Given the description of an element on the screen output the (x, y) to click on. 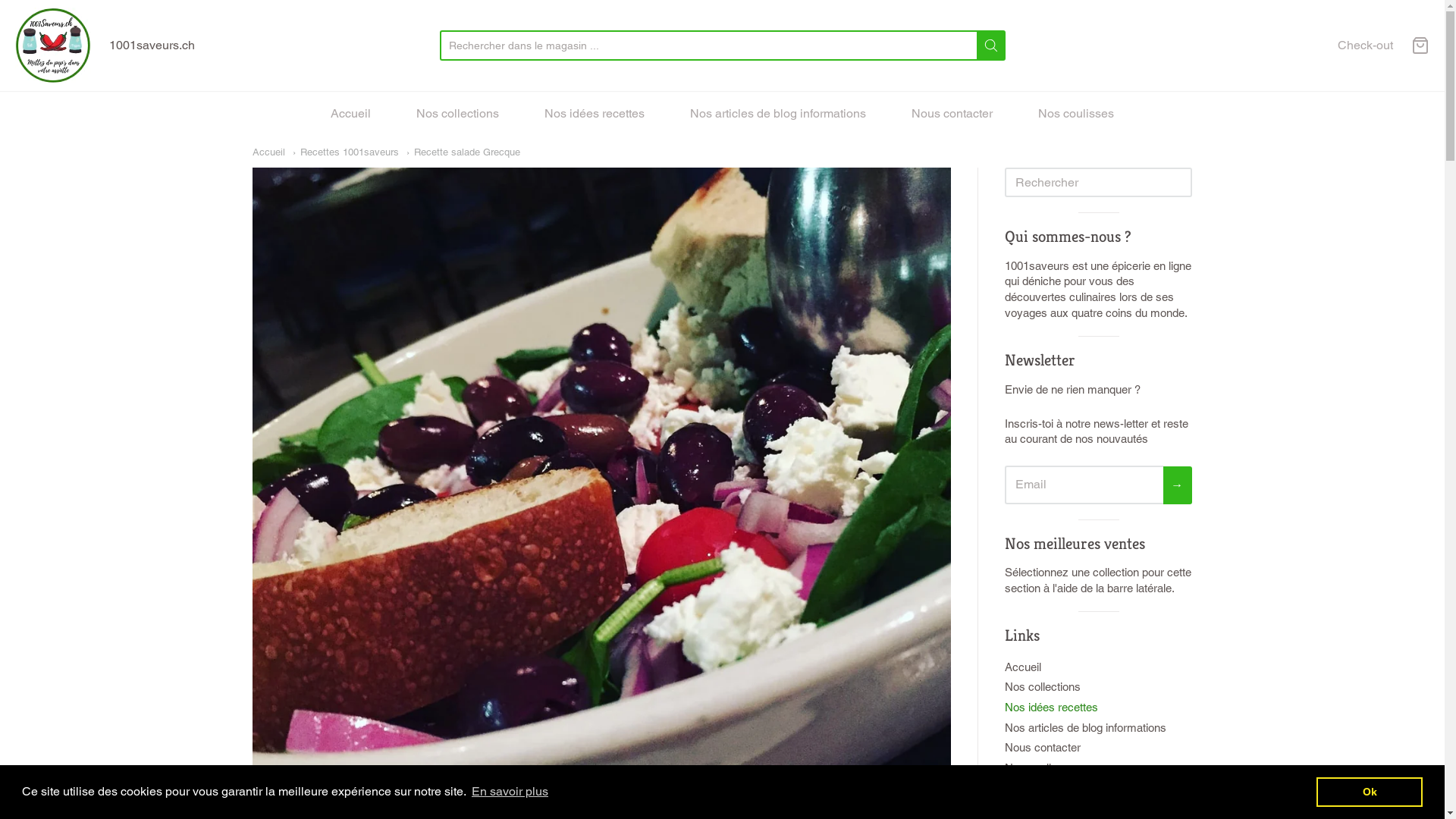
Nos articles de blog informations Element type: text (1098, 728)
Accueil Element type: text (350, 113)
Recette salade Grecque Element type: text (463, 151)
Accueil Element type: text (267, 151)
Nous contacter Element type: text (951, 113)
Ok Element type: text (1369, 791)
Nos coulisses Element type: text (1075, 113)
En savoir plus Element type: text (509, 791)
Nos coulisses Element type: text (1098, 768)
Check-out Element type: text (1365, 45)
Recettes 1001saveurs Element type: text (345, 151)
1001saveurs.ch Element type: hover (53, 45)
Nous contacter Element type: text (1098, 747)
Accueil Element type: text (1098, 667)
Nos articles de blog informations Element type: text (778, 113)
Nos collections Element type: text (1098, 687)
Nos collections Element type: text (457, 113)
